Given the description of an element on the screen output the (x, y) to click on. 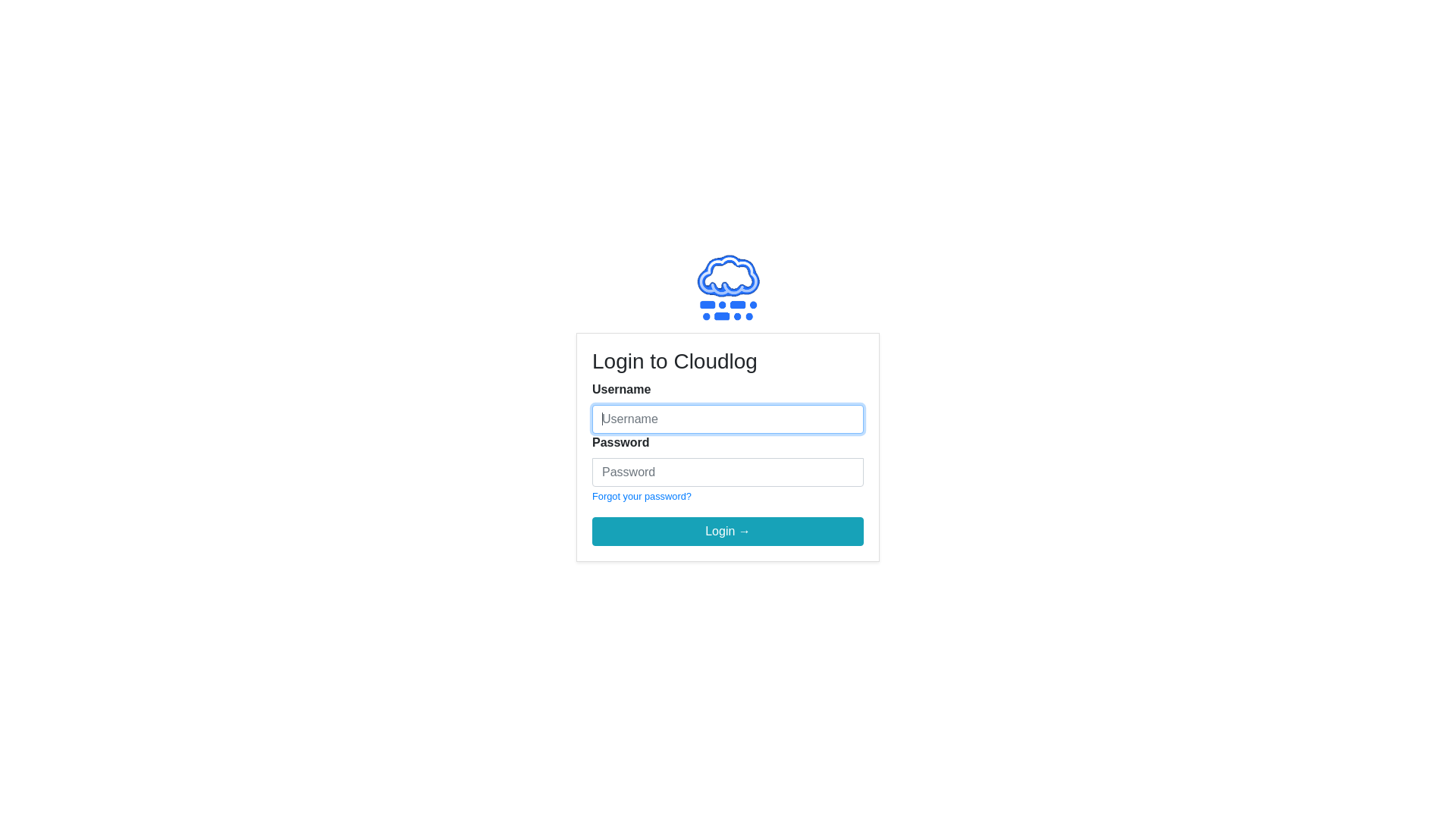
Forgot your password? Element type: text (641, 496)
